Given the description of an element on the screen output the (x, y) to click on. 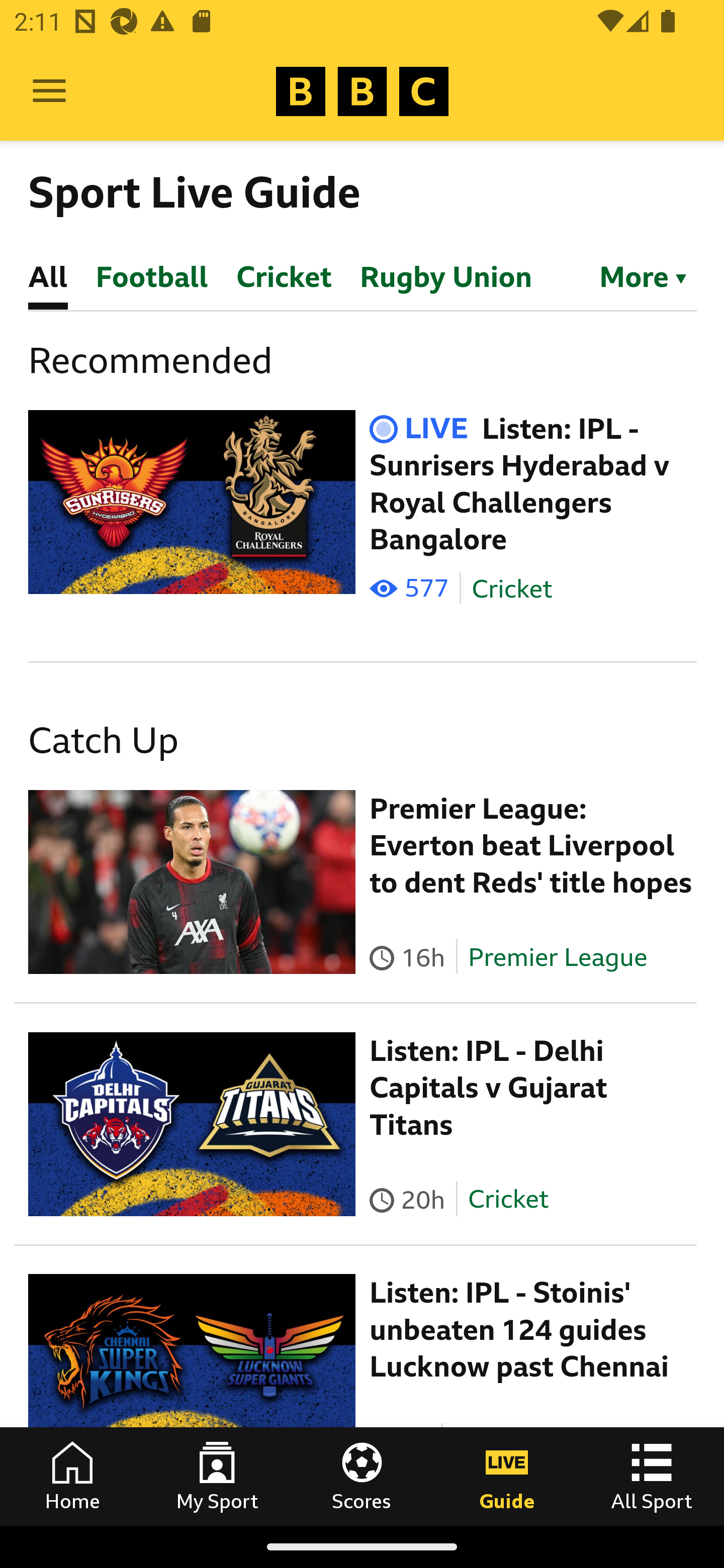
Open Menu (49, 91)
Premier League (557, 956)
Listen: IPL - Delhi Capitals v Gujarat Titans (488, 1088)
Cricket (507, 1199)
Home (72, 1475)
My Sport (216, 1475)
Scores (361, 1475)
All Sport (651, 1475)
